Given the description of an element on the screen output the (x, y) to click on. 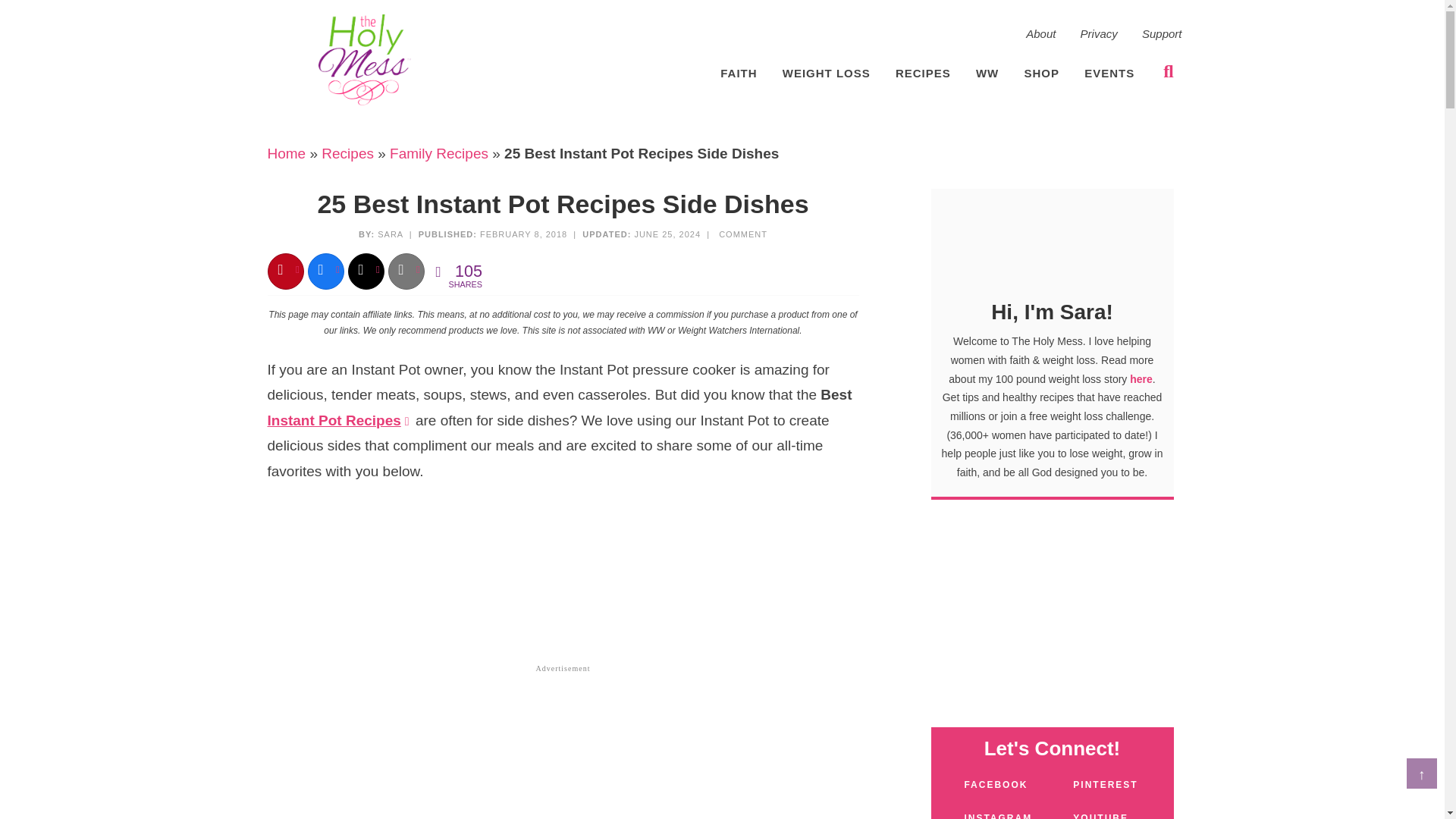
Privacy (1099, 34)
FAITH (738, 73)
WEIGHT LOSS (825, 73)
About (1039, 34)
SHOP (1041, 73)
WW (987, 73)
EVENTS (1109, 73)
Recipes (347, 153)
THE HOLY MESS (364, 59)
